Given the description of an element on the screen output the (x, y) to click on. 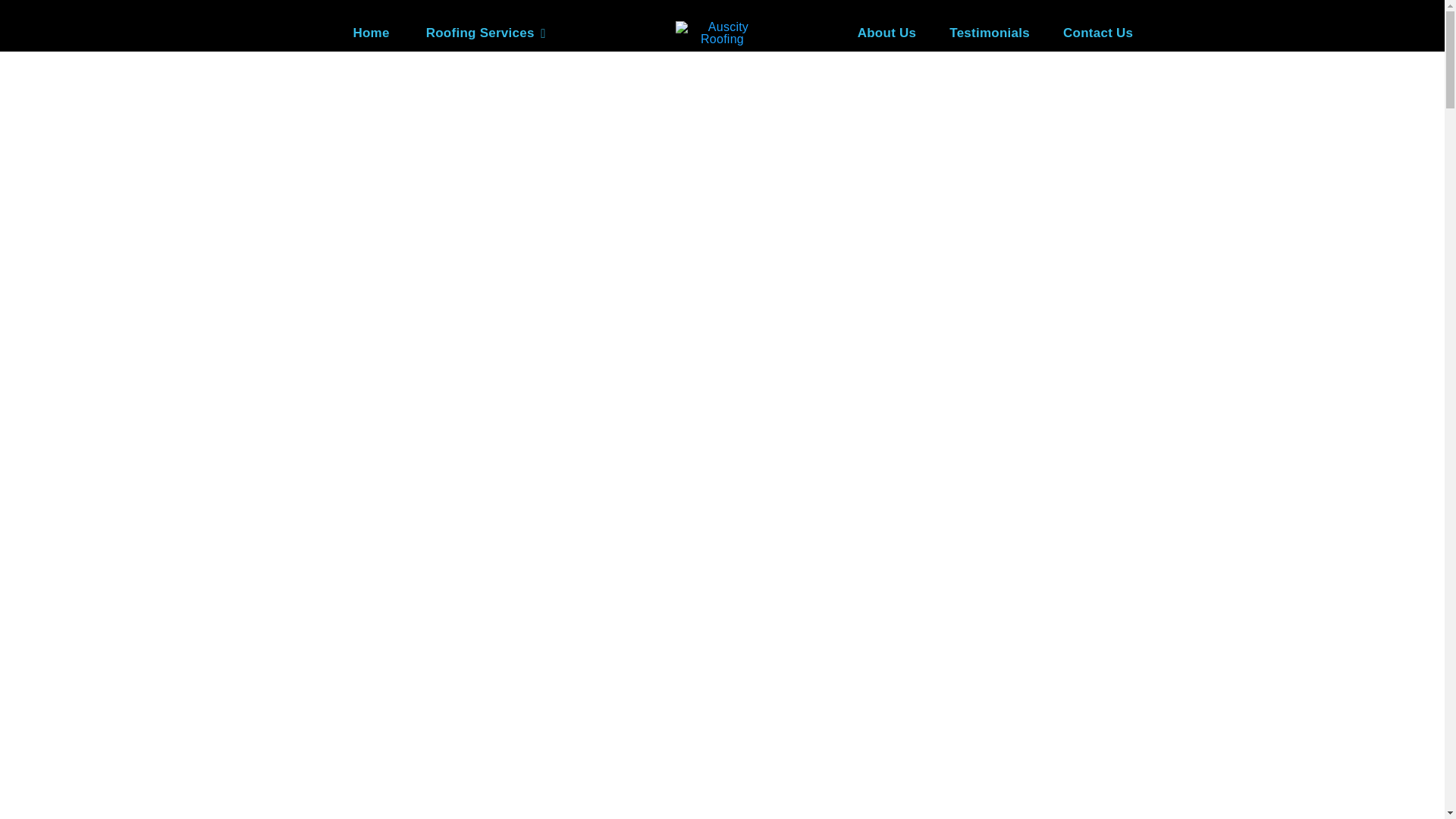
Contact Us (1098, 33)
Roofing Services (485, 33)
Testimonials (989, 33)
About Us (887, 33)
Home (370, 33)
